Given the description of an element on the screen output the (x, y) to click on. 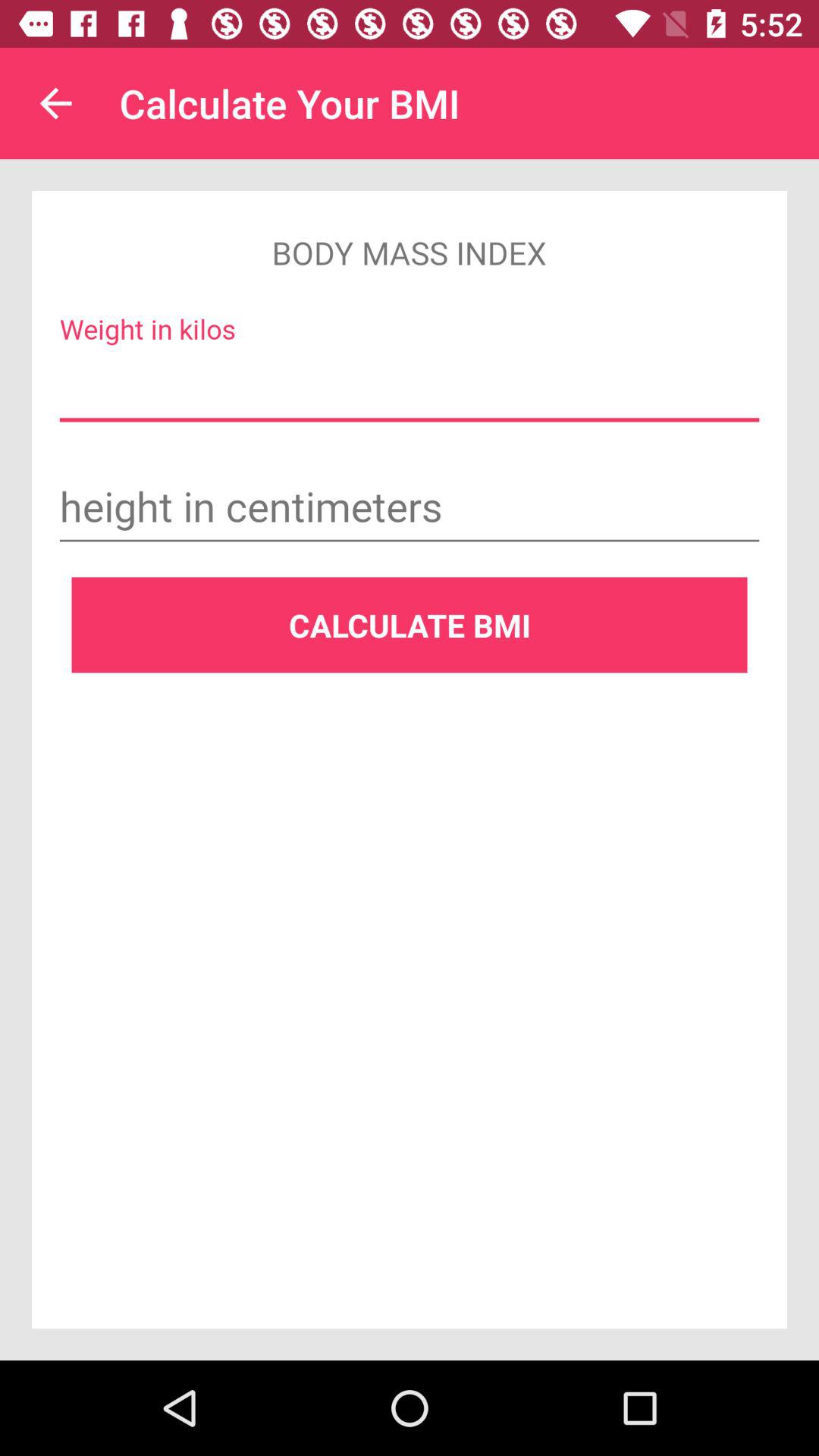
space for entering height in centimeters (409, 508)
